Given the description of an element on the screen output the (x, y) to click on. 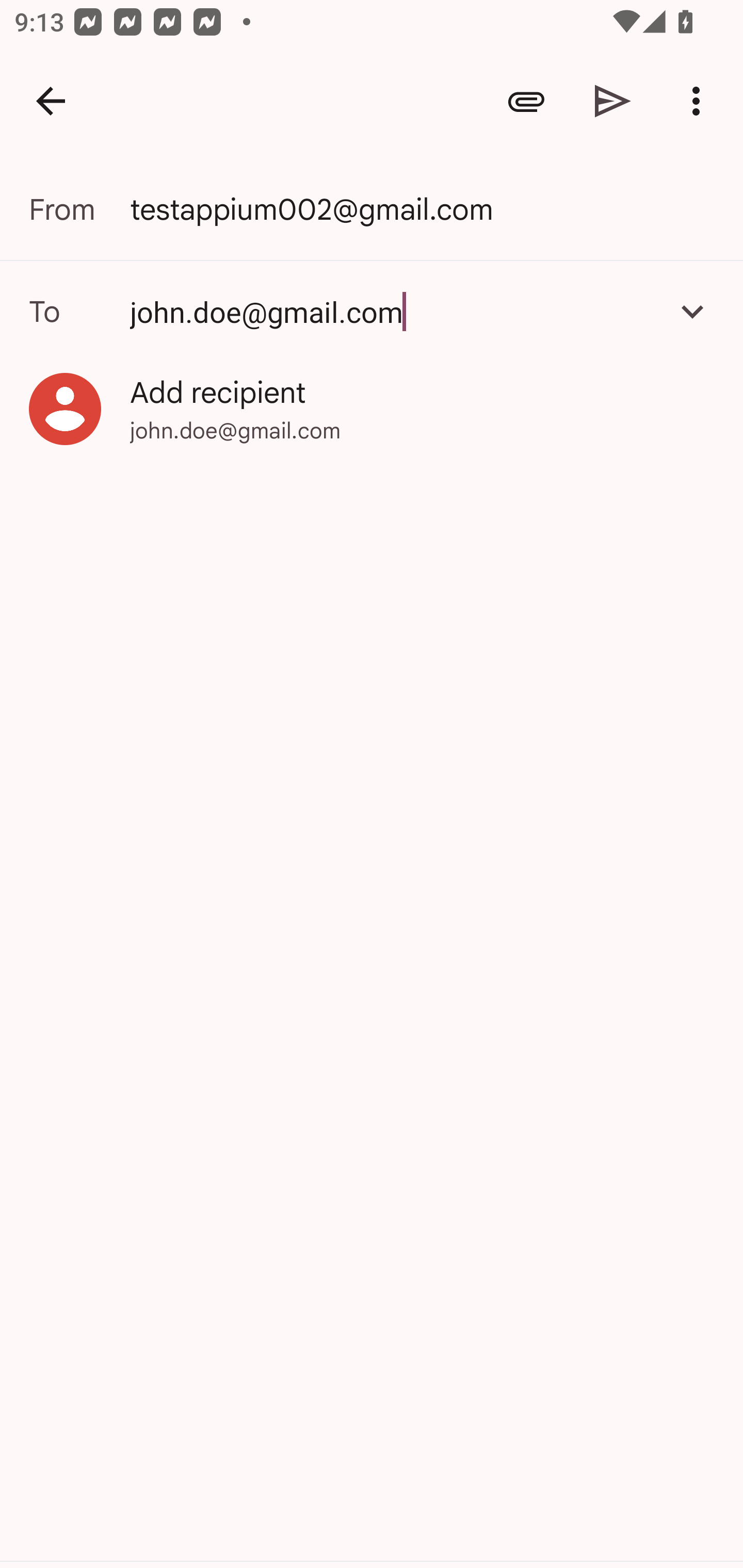
Navigate up (50, 101)
Attach file (525, 101)
Send (612, 101)
More options (699, 101)
From (79, 209)
Add Cc/Bcc (692, 311)
john.doe@gmail.com (371, 311)
john.doe@gmail.com (393, 311)
Add recipient john.doe@gmail.com (371, 408)
